Given the description of an element on the screen output the (x, y) to click on. 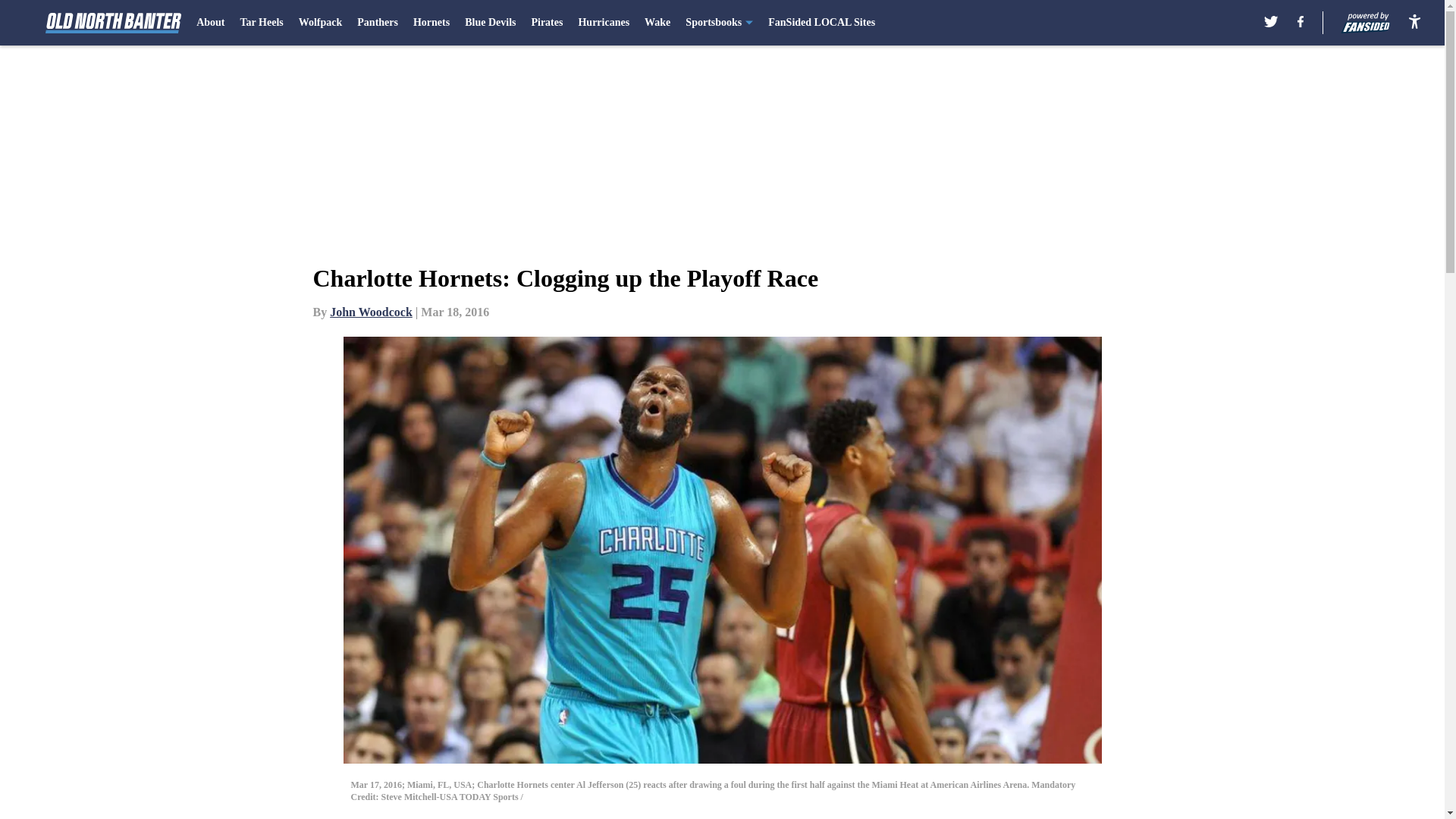
Hornets (431, 22)
Blue Devils (489, 22)
About (210, 22)
Panthers (376, 22)
Wake (657, 22)
Tar Heels (261, 22)
John Woodcock (371, 311)
Hurricanes (603, 22)
Wolfpack (320, 22)
FanSided LOCAL Sites (821, 22)
Pirates (546, 22)
